Given the description of an element on the screen output the (x, y) to click on. 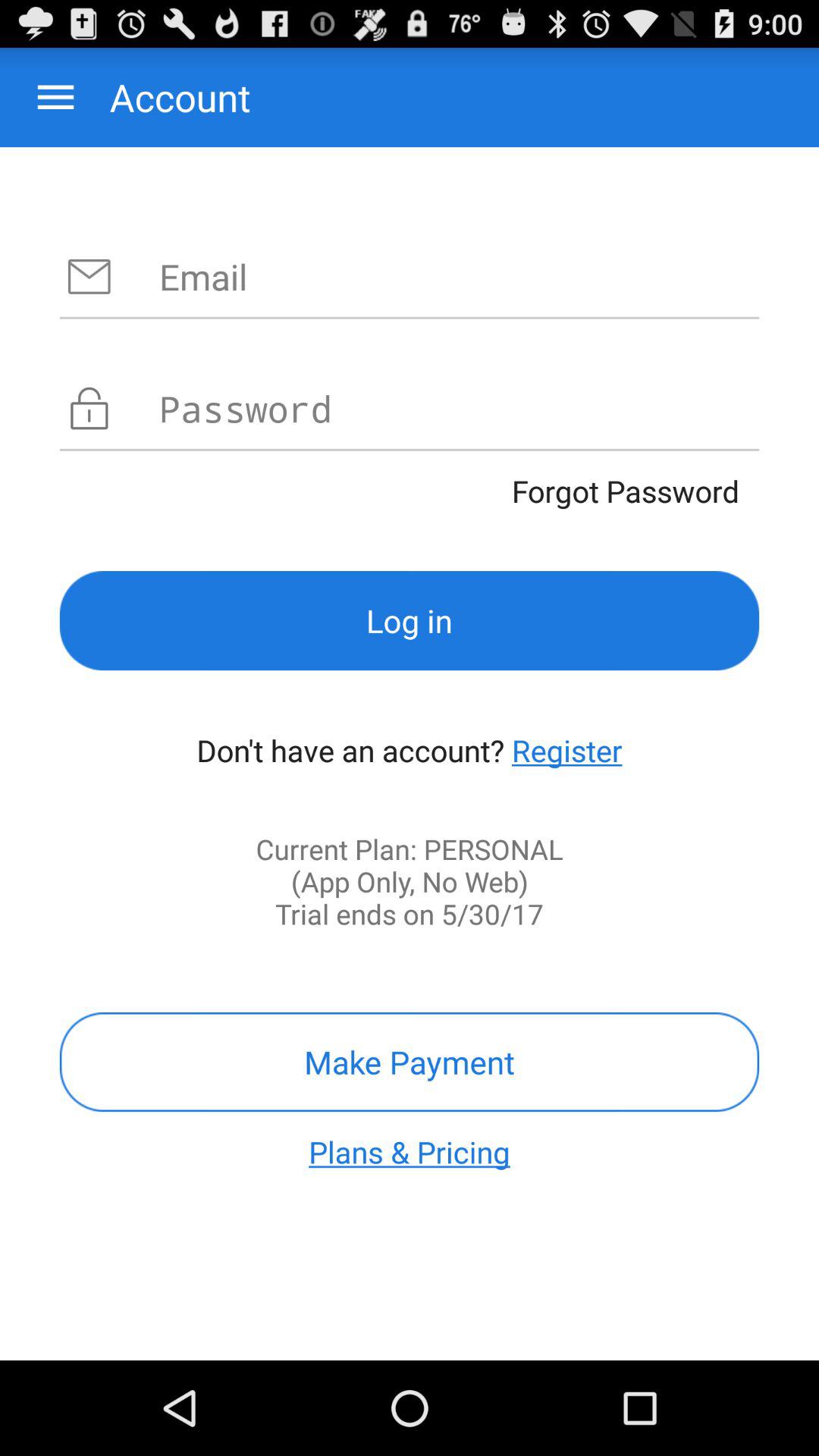
press item below the log in icon (566, 750)
